Given the description of an element on the screen output the (x, y) to click on. 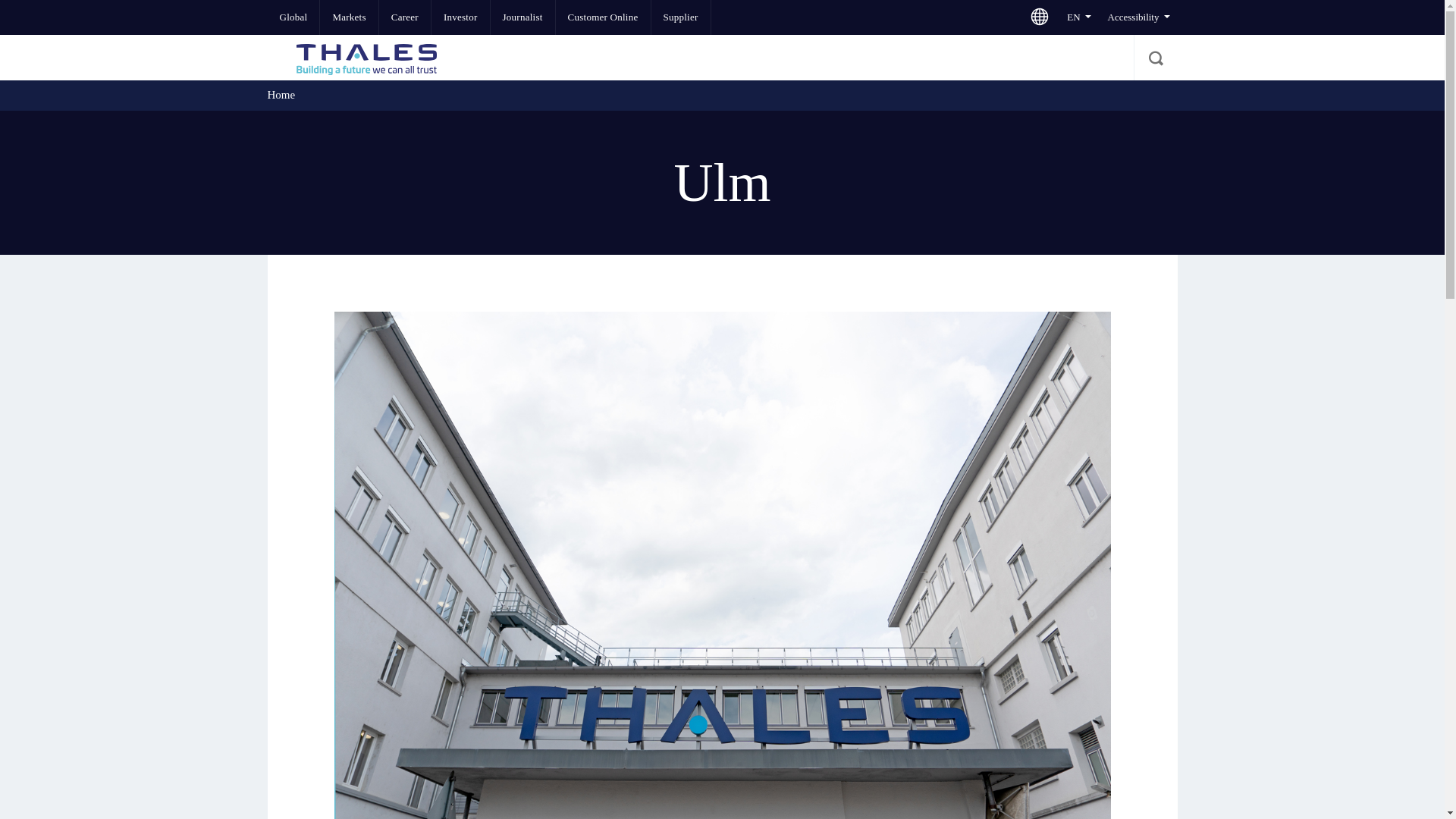
EN (1077, 17)
Accessibility (1138, 17)
Supplier (680, 17)
Journalist (521, 17)
Investor (459, 17)
Home (280, 94)
Career (404, 17)
Search (1154, 57)
Markets (348, 17)
Customer Online (603, 17)
Global (292, 17)
